Given the description of an element on the screen output the (x, y) to click on. 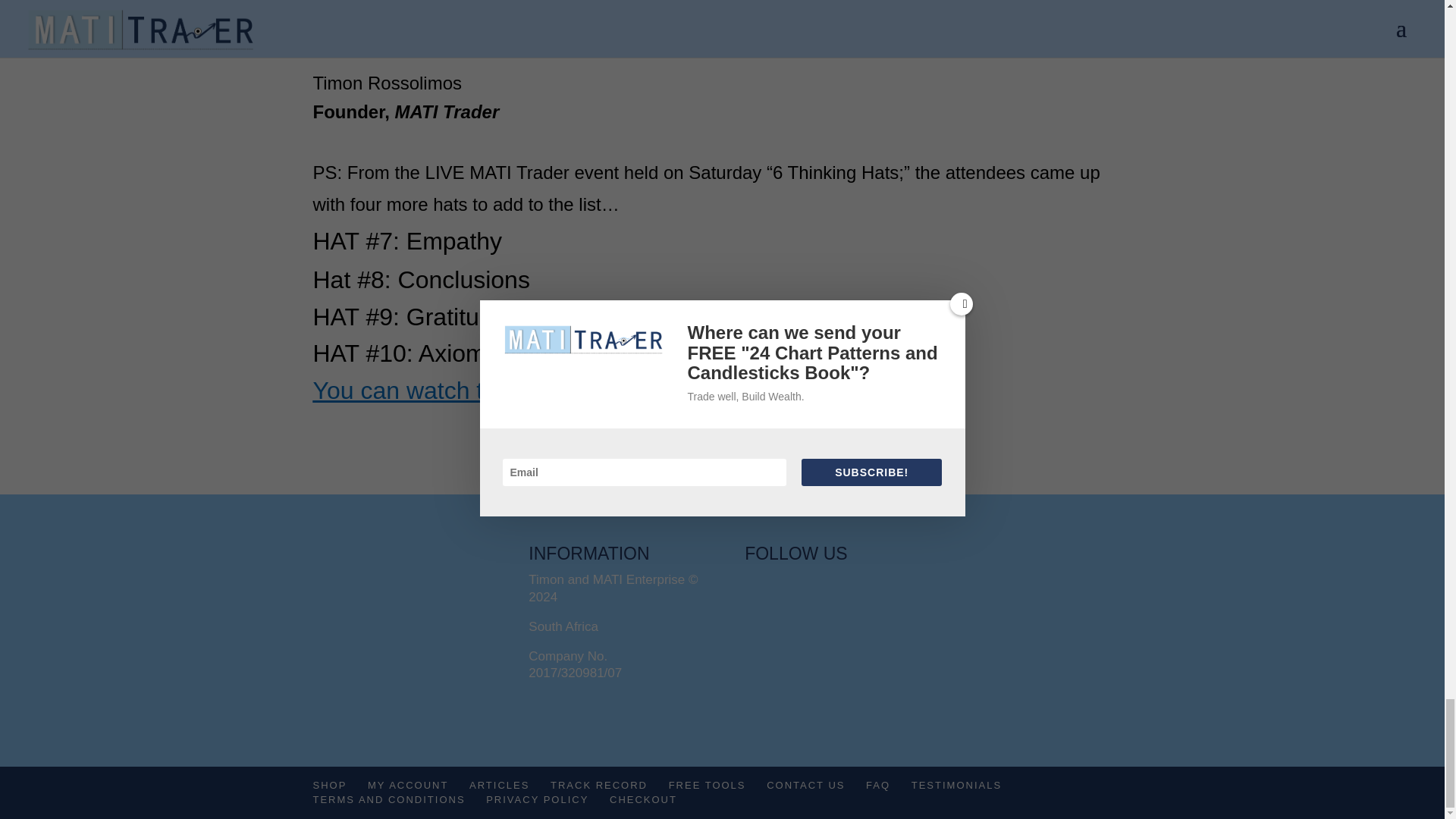
TRACK RECORD (598, 785)
TERMS AND CONDITIONS (388, 799)
ARTICLES (498, 785)
CONTACT US (805, 785)
TESTIMONIALS (956, 785)
CHECKOUT (643, 799)
PRIVACY POLICY (537, 799)
SHOP (329, 785)
FAQ (877, 785)
FREE TOOLS (706, 785)
MY ACCOUNT (408, 785)
